Given the description of an element on the screen output the (x, y) to click on. 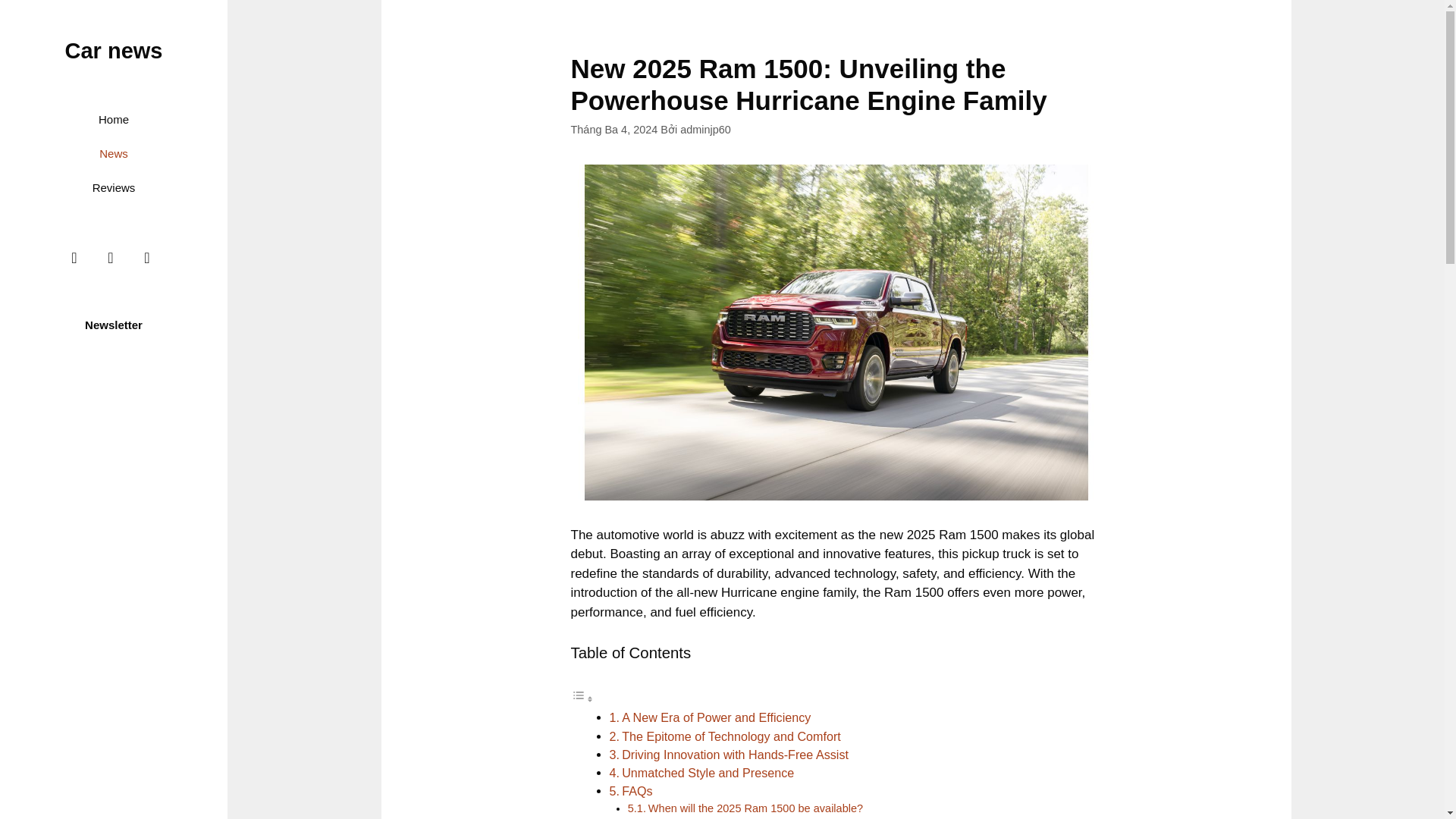
Unmatched Style and Presence (707, 772)
Unmatched Style and Presence (707, 772)
The Epitome of Technology and Comfort (731, 735)
Car news (114, 50)
Driving Innovation with Hands-Free Assist (734, 754)
FAQs (636, 790)
When will the 2025 Ram 1500 be available? (755, 808)
Facebook (73, 257)
Instagram (110, 257)
